Given the description of an element on the screen output the (x, y) to click on. 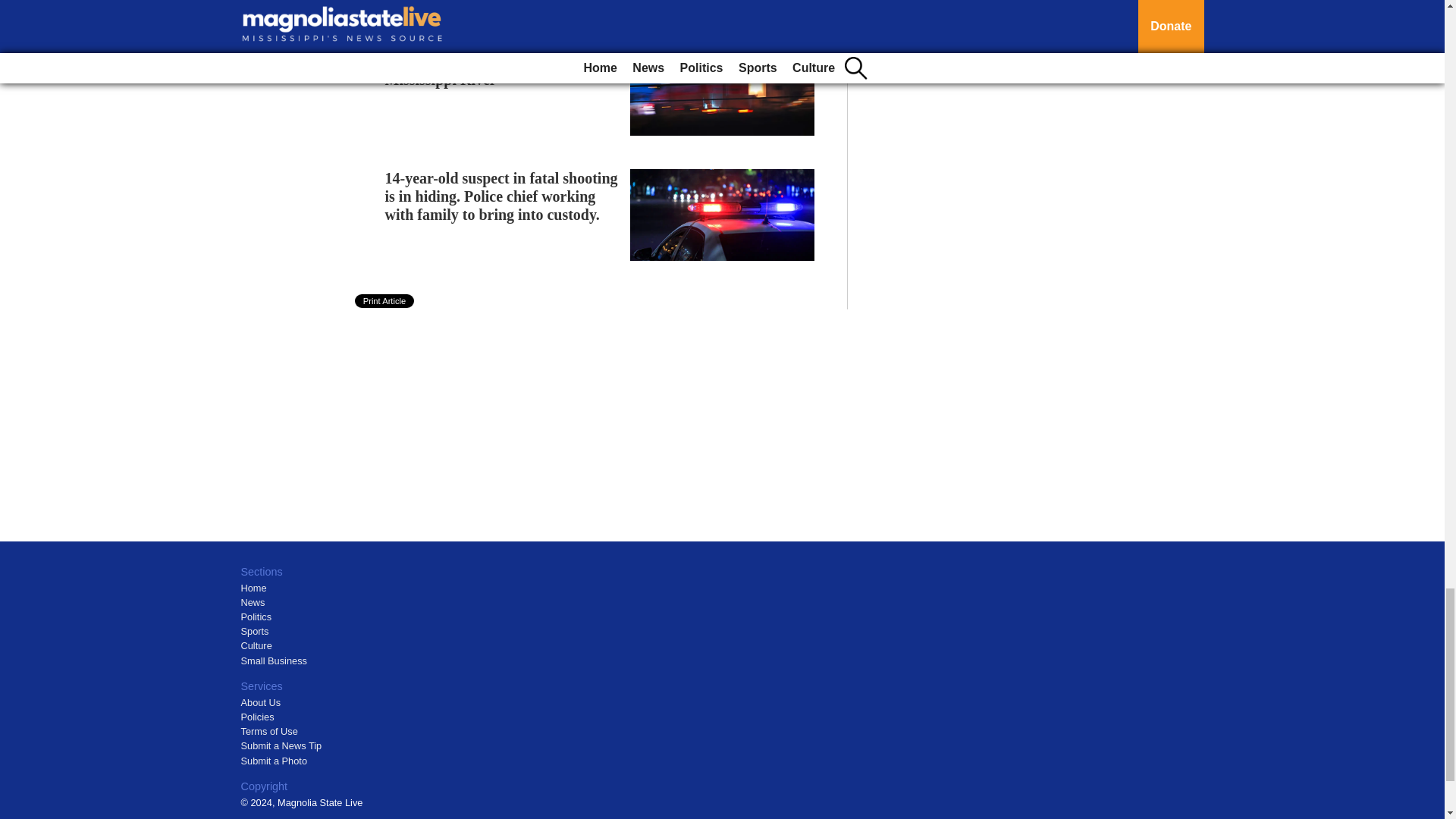
Submit a Photo (274, 760)
Submit a News Tip (281, 745)
Policies (258, 716)
Terms of Use (269, 731)
Culture (256, 645)
Sports (255, 631)
Politics (256, 616)
News (252, 602)
Small Business (274, 660)
Home (253, 587)
Print Article (384, 300)
